Given the description of an element on the screen output the (x, y) to click on. 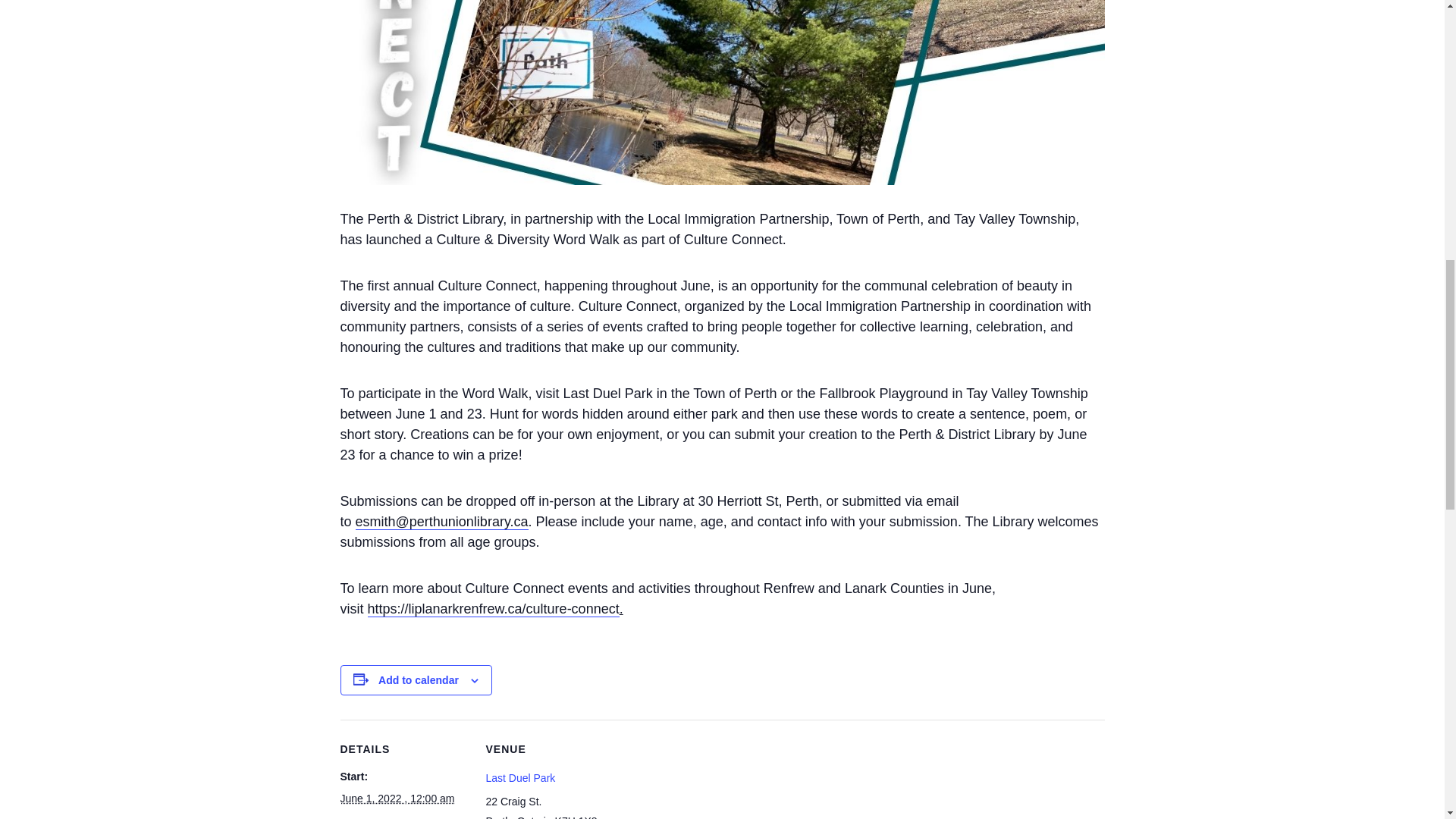
Ontario (533, 816)
Google maps iframe displaying the address to Last Duel Park (710, 781)
2022-06-01 (396, 798)
